Given the description of an element on the screen output the (x, y) to click on. 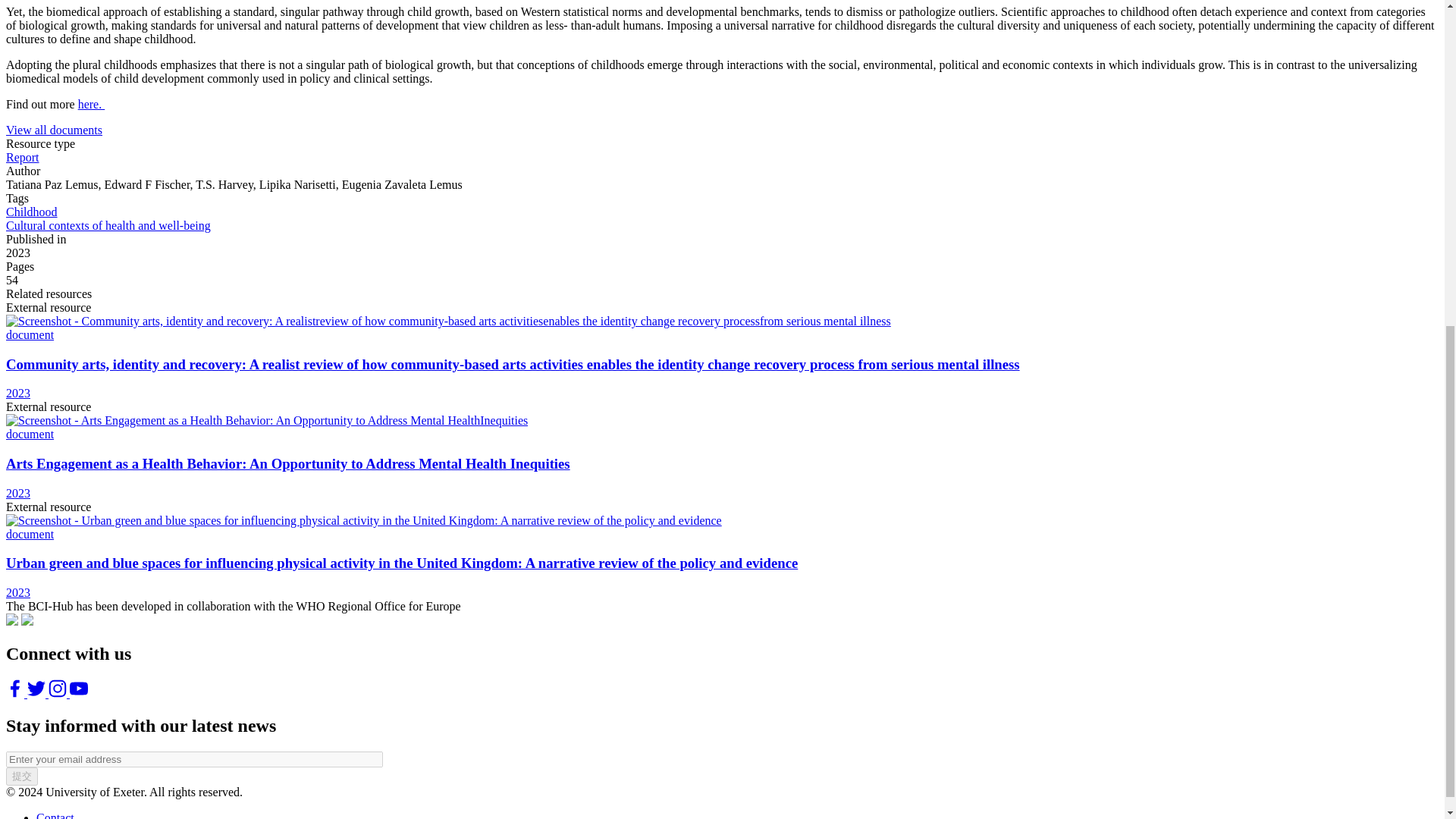
YouTube (58, 693)
Twitter (37, 693)
Childhood (31, 211)
Facebook (16, 693)
Report (22, 156)
here.  (91, 103)
YouTube (78, 693)
